Given the description of an element on the screen output the (x, y) to click on. 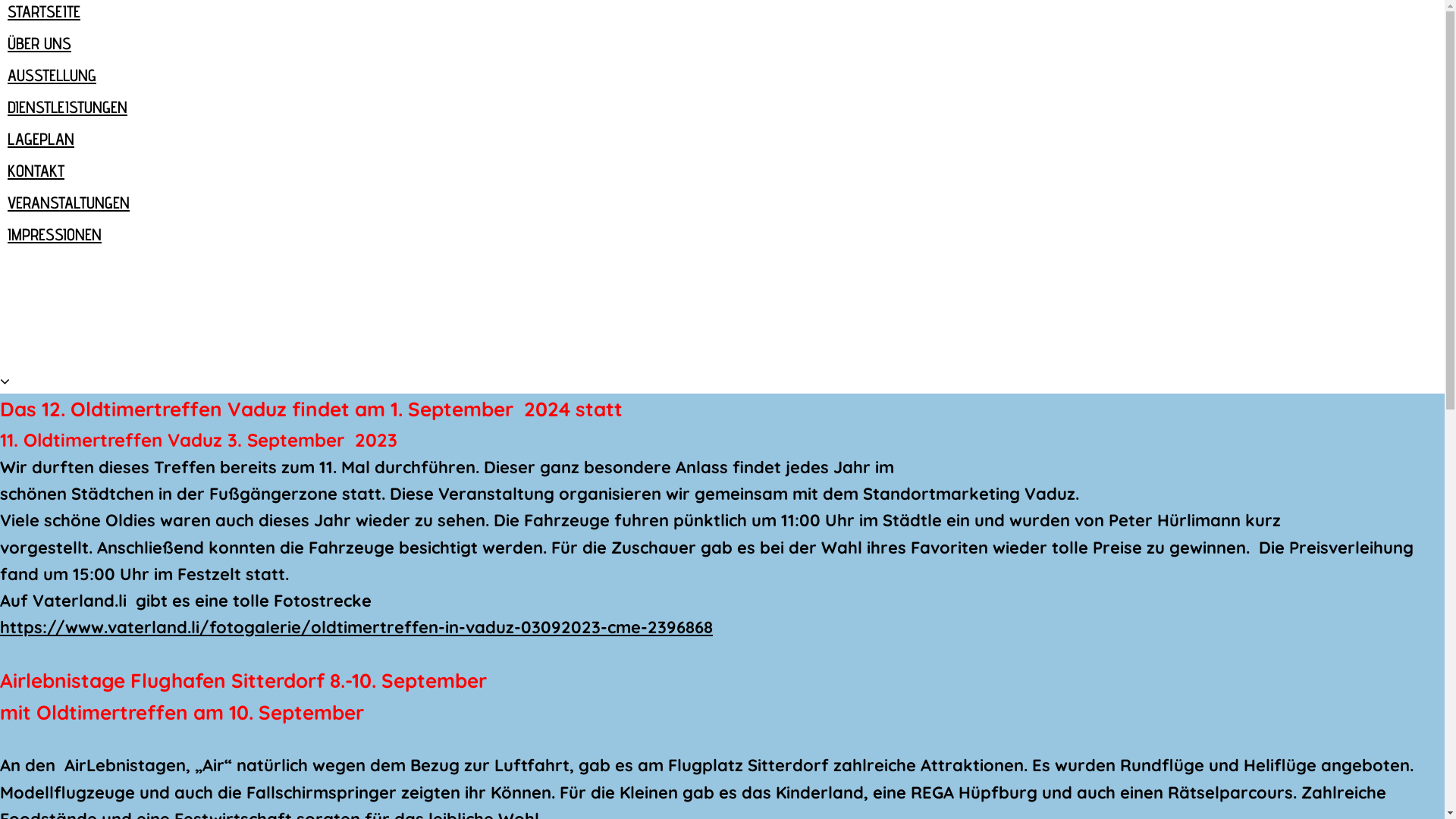
DIENSTLEISTUNGEN Element type: text (67, 106)
VERANSTALTUNGEN Element type: text (68, 202)
STARTSEITE Element type: text (43, 11)
IMPRESSIONEN Element type: text (54, 234)
KONTAKT Element type: text (35, 170)
AUSSTELLUNG Element type: text (51, 74)
LAGEPLAN Element type: text (40, 138)
